Given the description of an element on the screen output the (x, y) to click on. 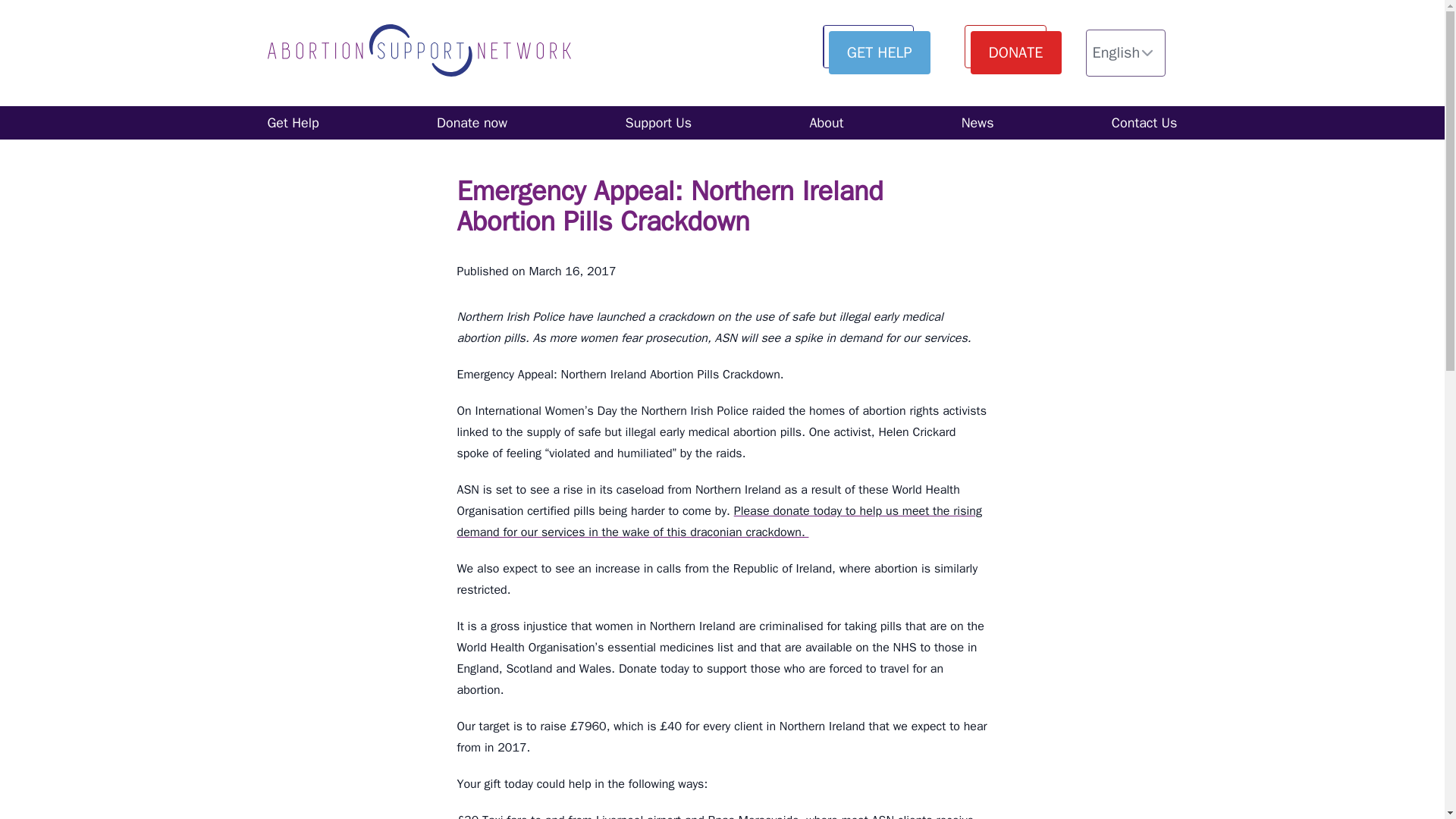
Contact Us (1144, 122)
Get Help (292, 122)
Support Us (657, 122)
Support Us (657, 122)
GET HELP (879, 52)
Abortion Support Network (418, 52)
About (826, 122)
Contact Us (1144, 122)
DONATE (1016, 52)
